Given the description of an element on the screen output the (x, y) to click on. 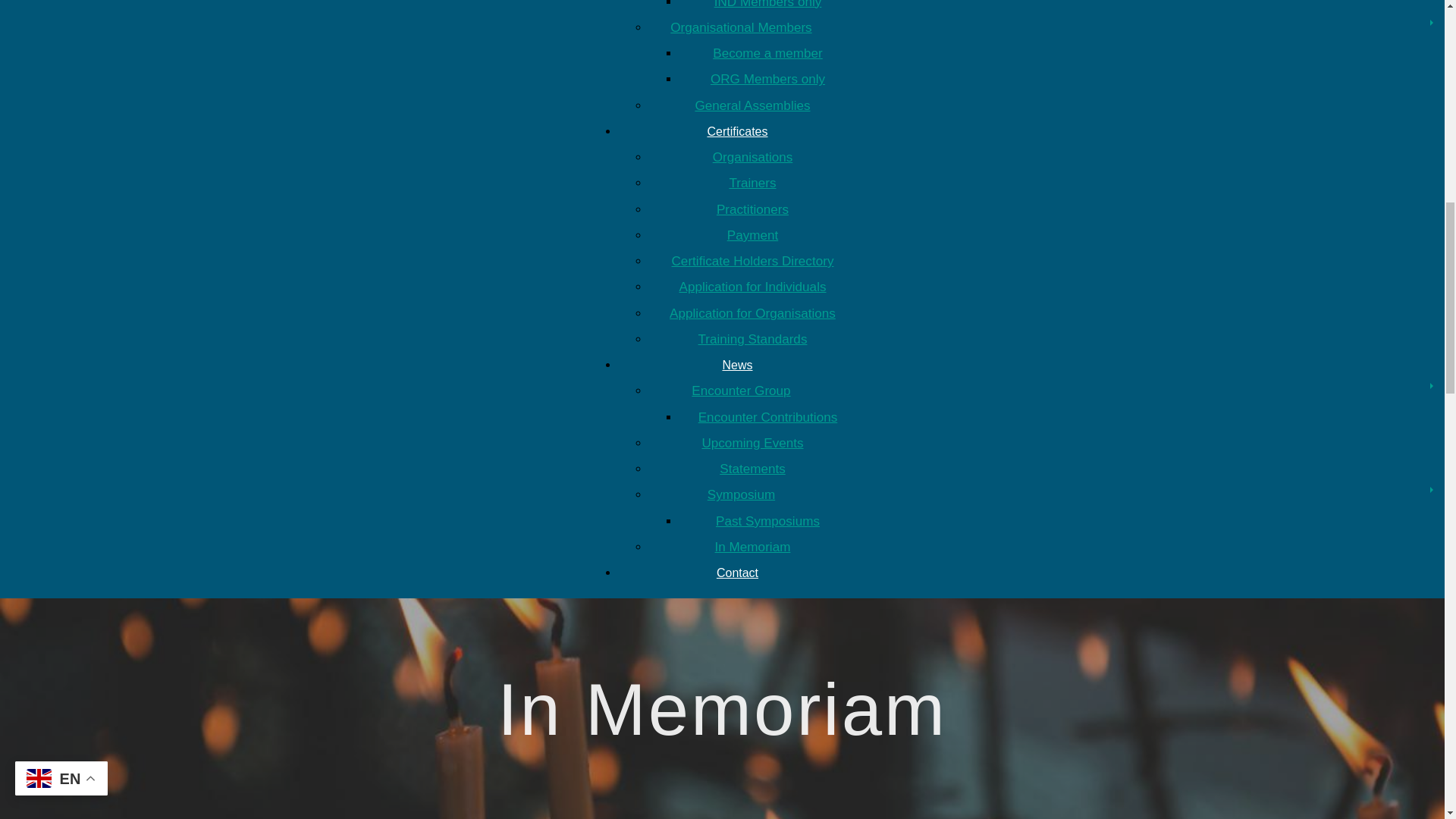
Training Standards (753, 339)
ORG Members only (767, 79)
Certificates (736, 131)
Application for Organisations (752, 313)
Payment (752, 235)
Symposium (752, 494)
Trainers (752, 183)
News (737, 364)
IND Members only (768, 4)
Upcoming Events (752, 442)
Statements (752, 468)
Organisational Members (751, 27)
Organisations (753, 156)
Practitioners (752, 209)
Encounter Group (751, 391)
